Given the description of an element on the screen output the (x, y) to click on. 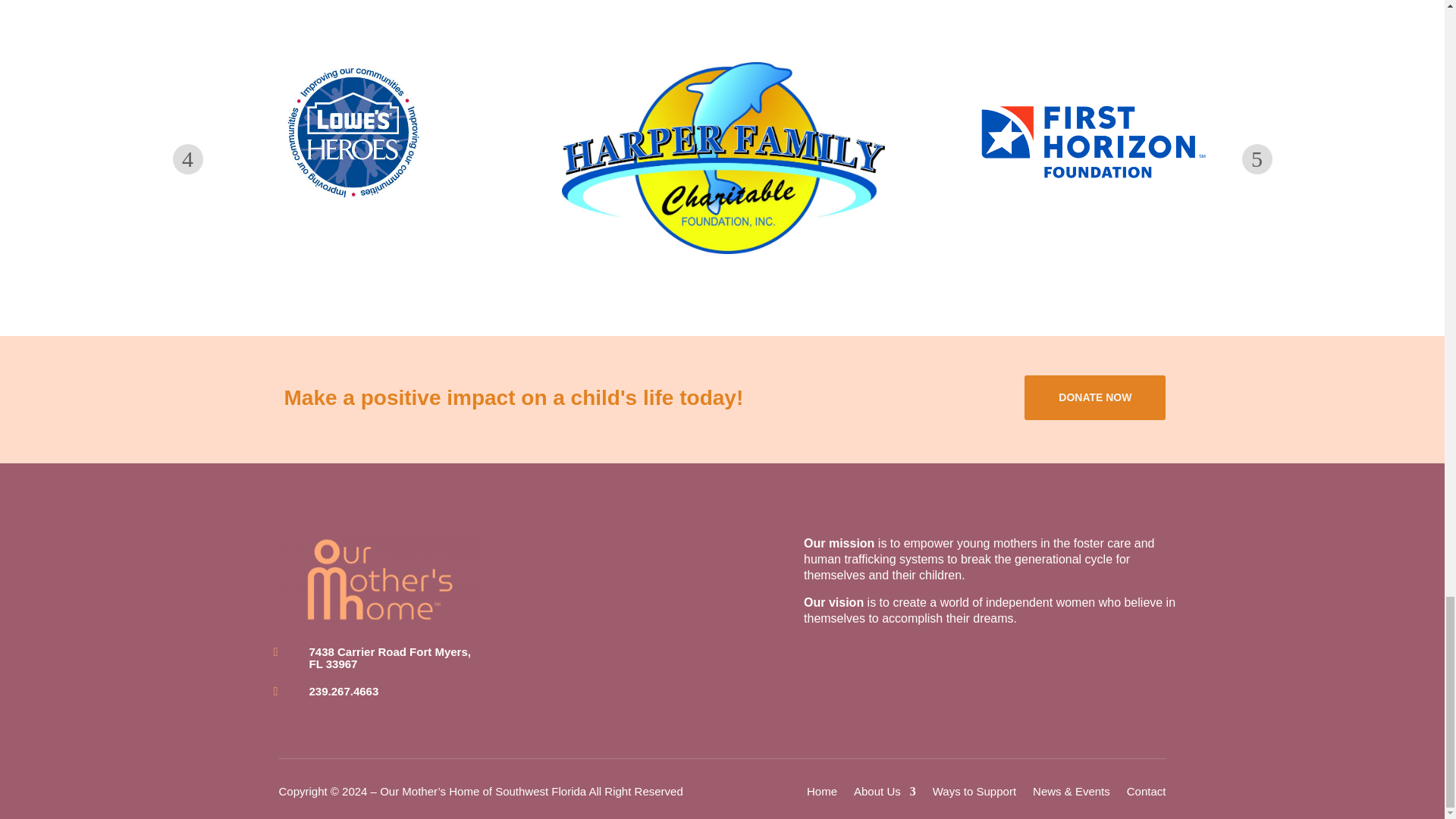
Prev (188, 159)
